Given the description of an element on the screen output the (x, y) to click on. 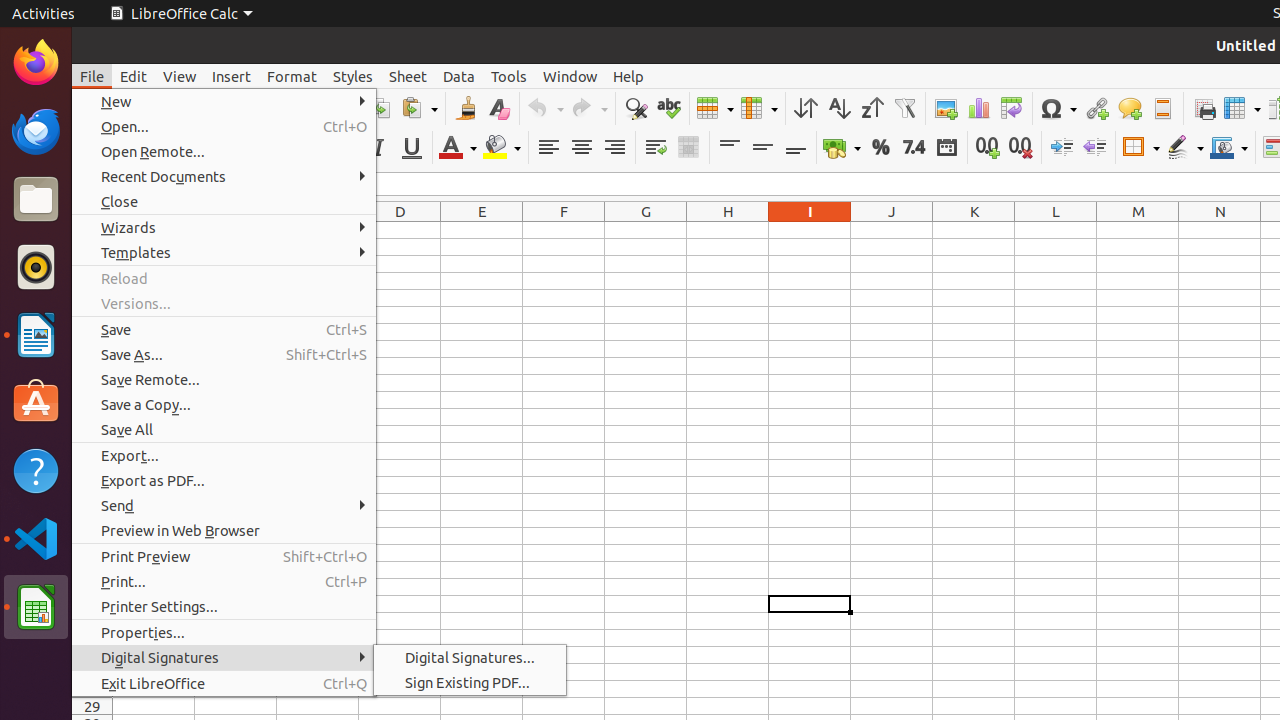
Activities Element type: label (43, 13)
Decrease Element type: push-button (1094, 147)
Delete Decimal Place Element type: push-button (1020, 147)
Add Decimal Place Element type: push-button (987, 147)
Send Element type: menu (224, 505)
